Given the description of an element on the screen output the (x, y) to click on. 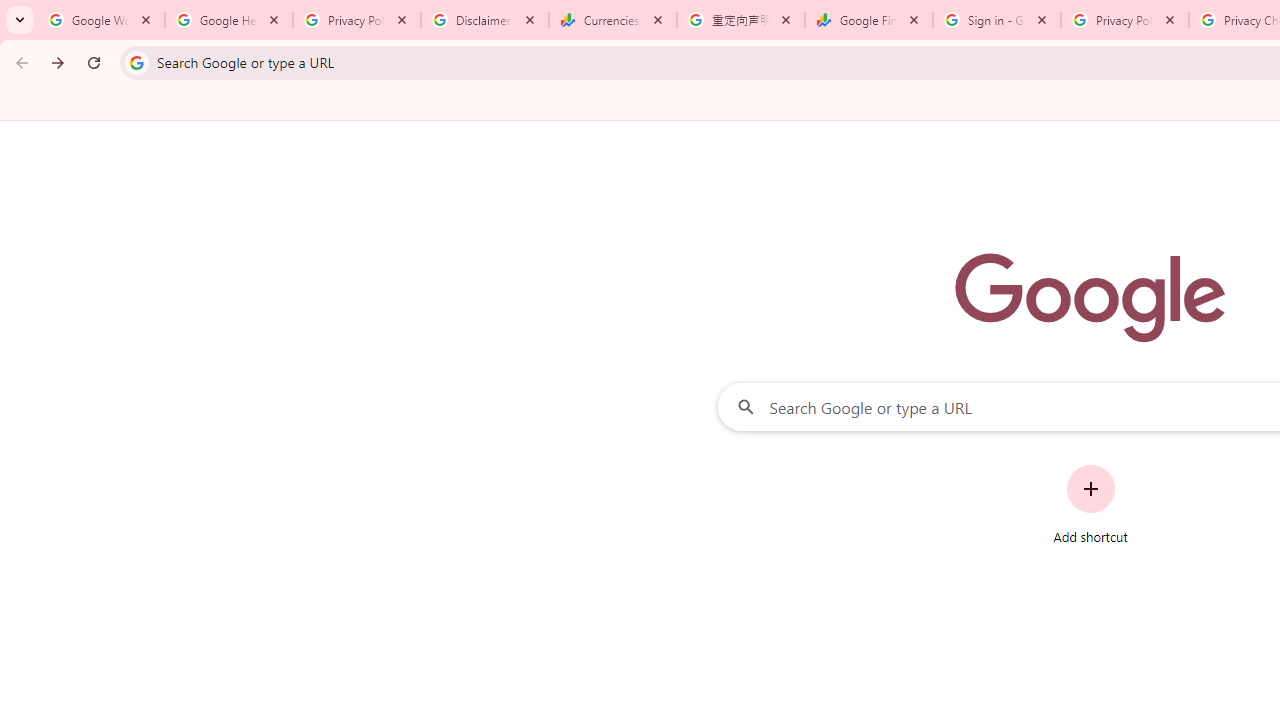
Currencies - Google Finance (613, 20)
Google Workspace Admin Community (101, 20)
Add shortcut (1090, 504)
